Given the description of an element on the screen output the (x, y) to click on. 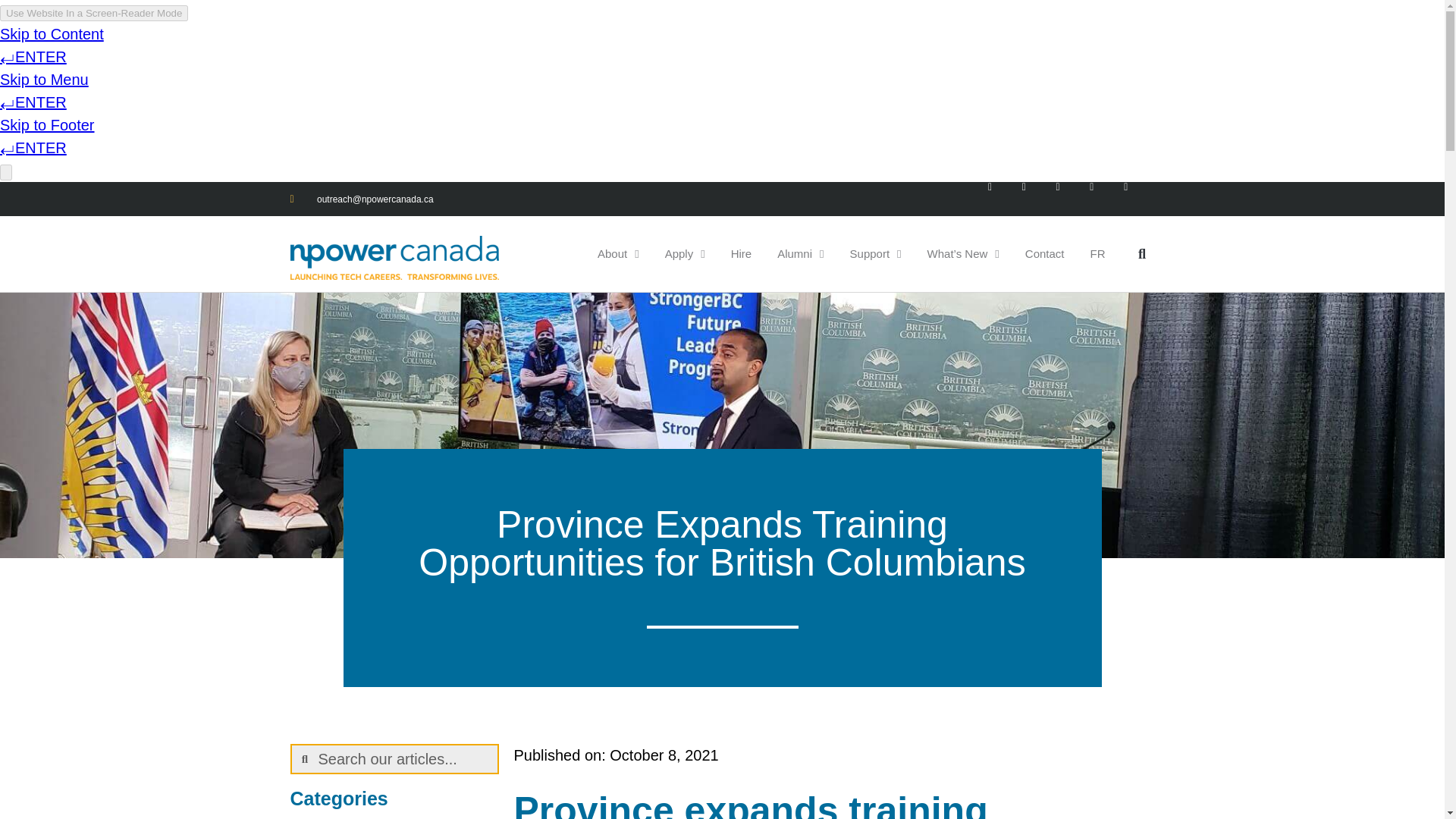
Hire (741, 253)
Apply (684, 253)
About (618, 253)
Alumni (799, 253)
Support (875, 253)
